Given the description of an element on the screen output the (x, y) to click on. 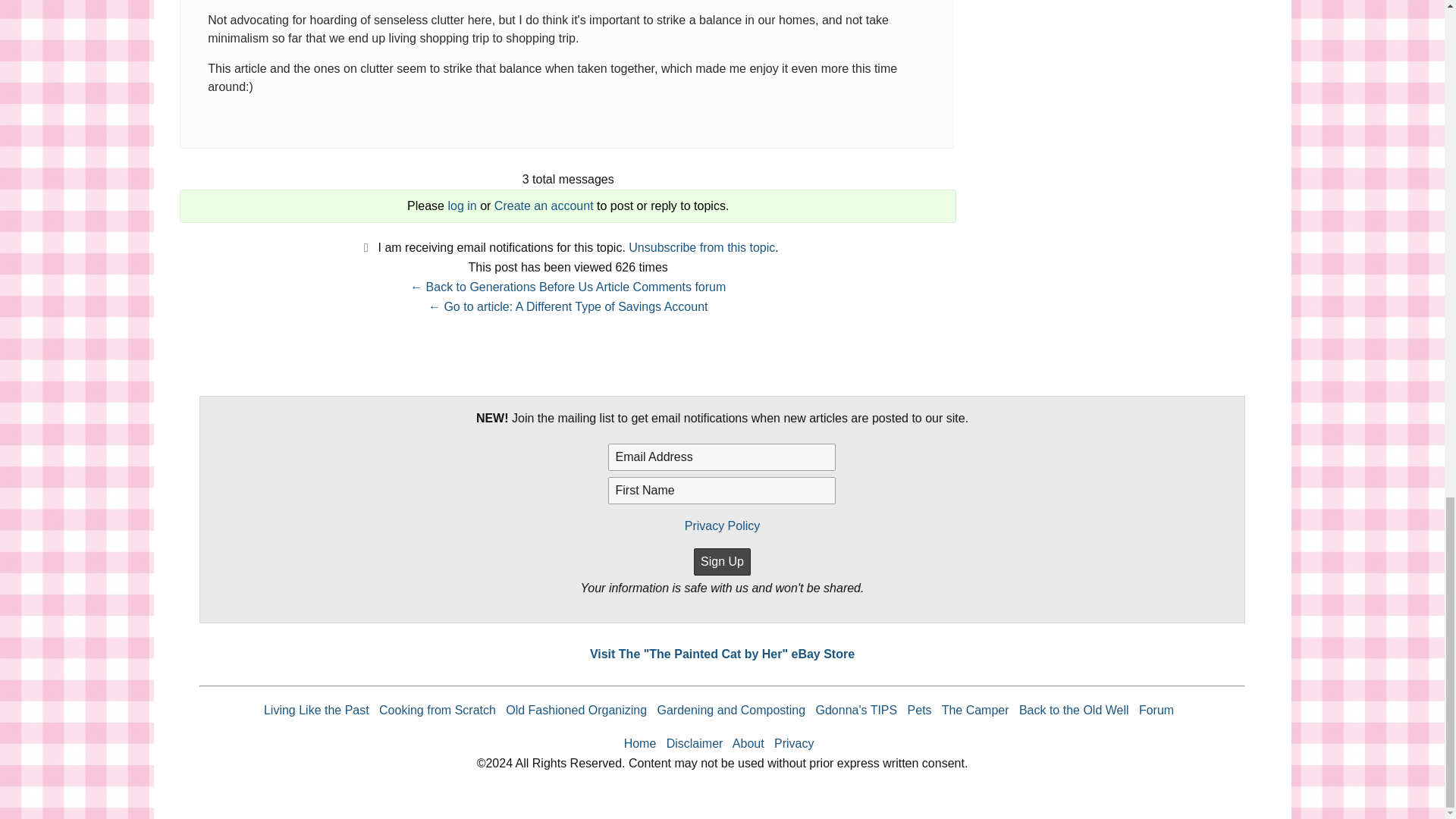
Sign Up (722, 561)
First Name (721, 490)
Email Address (721, 456)
